Given the description of an element on the screen output the (x, y) to click on. 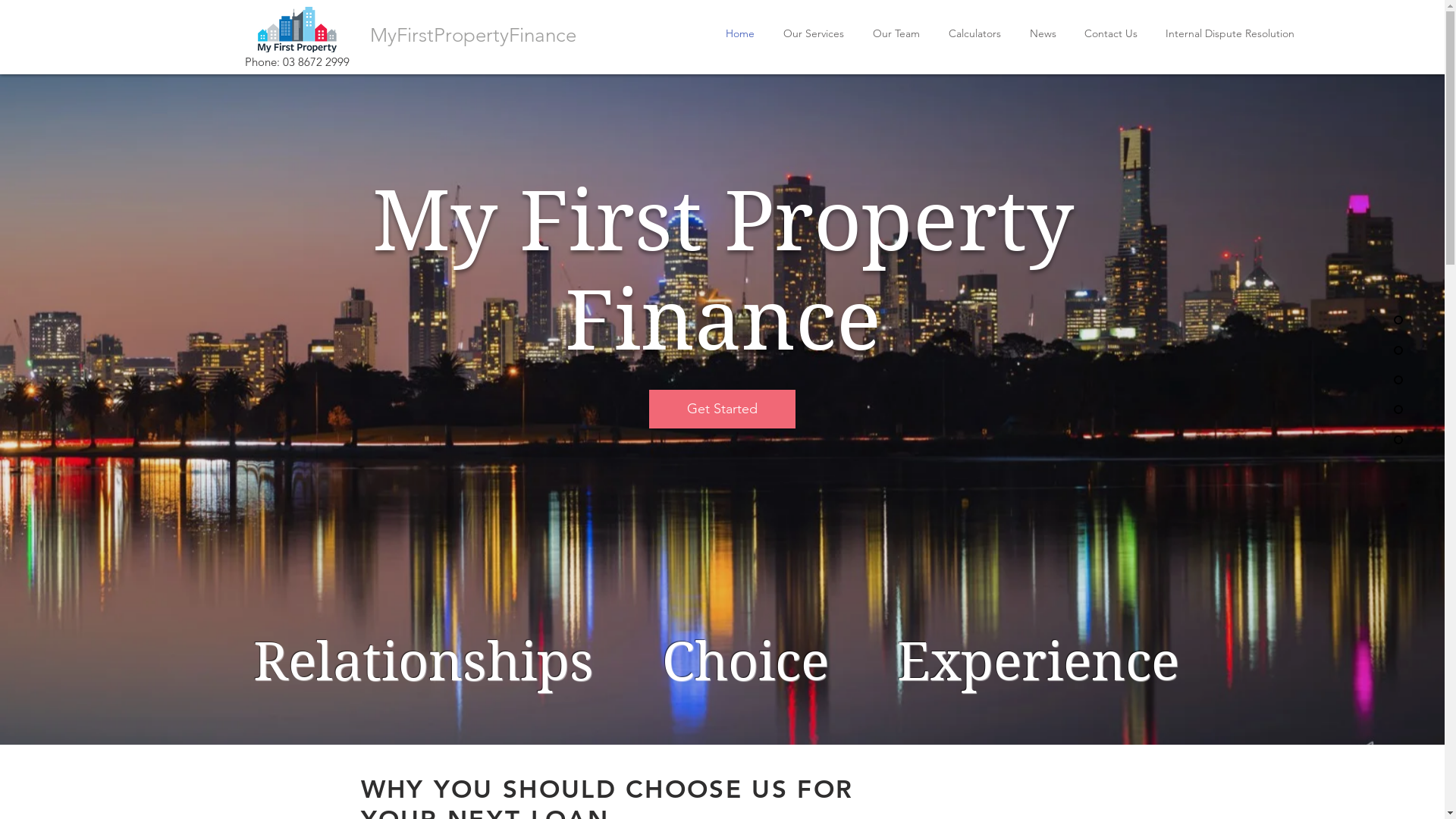
Contact Us Element type: text (1110, 33)
Our Services Element type: text (813, 33)
Phone: 03 8672 2999 Element type: text (296, 61)
Our Team Element type: text (896, 33)
MyFirstPropertyFinance Element type: text (473, 35)
News Element type: text (1042, 33)
Internal Dispute Resolution Element type: text (1229, 33)
Home Element type: text (739, 33)
Calculators Element type: text (974, 33)
Get Started Element type: text (722, 408)
